Given the description of an element on the screen output the (x, y) to click on. 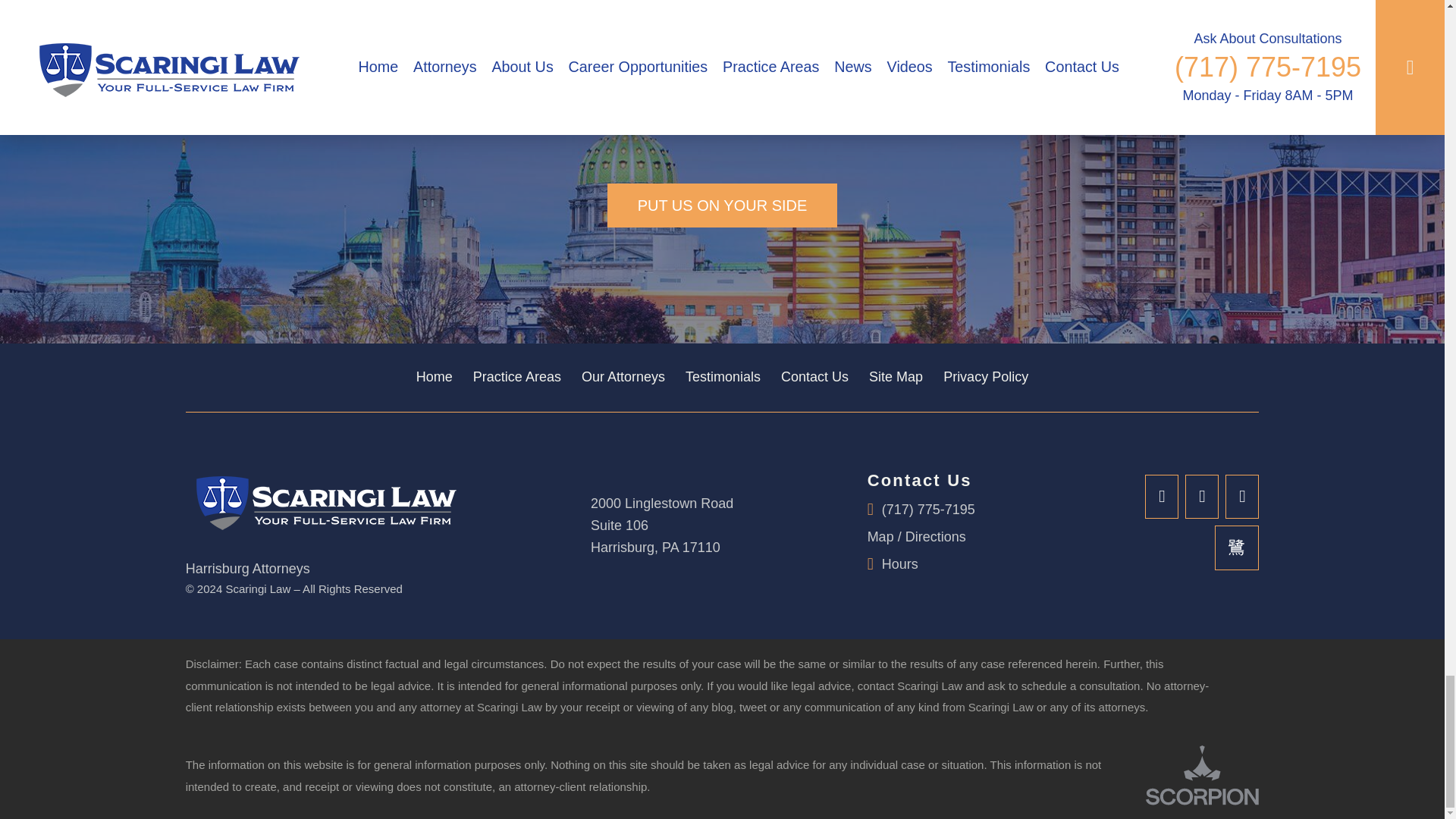
Scaringi Law (321, 500)
Scorpion Legal Internet Marketing (1202, 775)
